Given the description of an element on the screen output the (x, y) to click on. 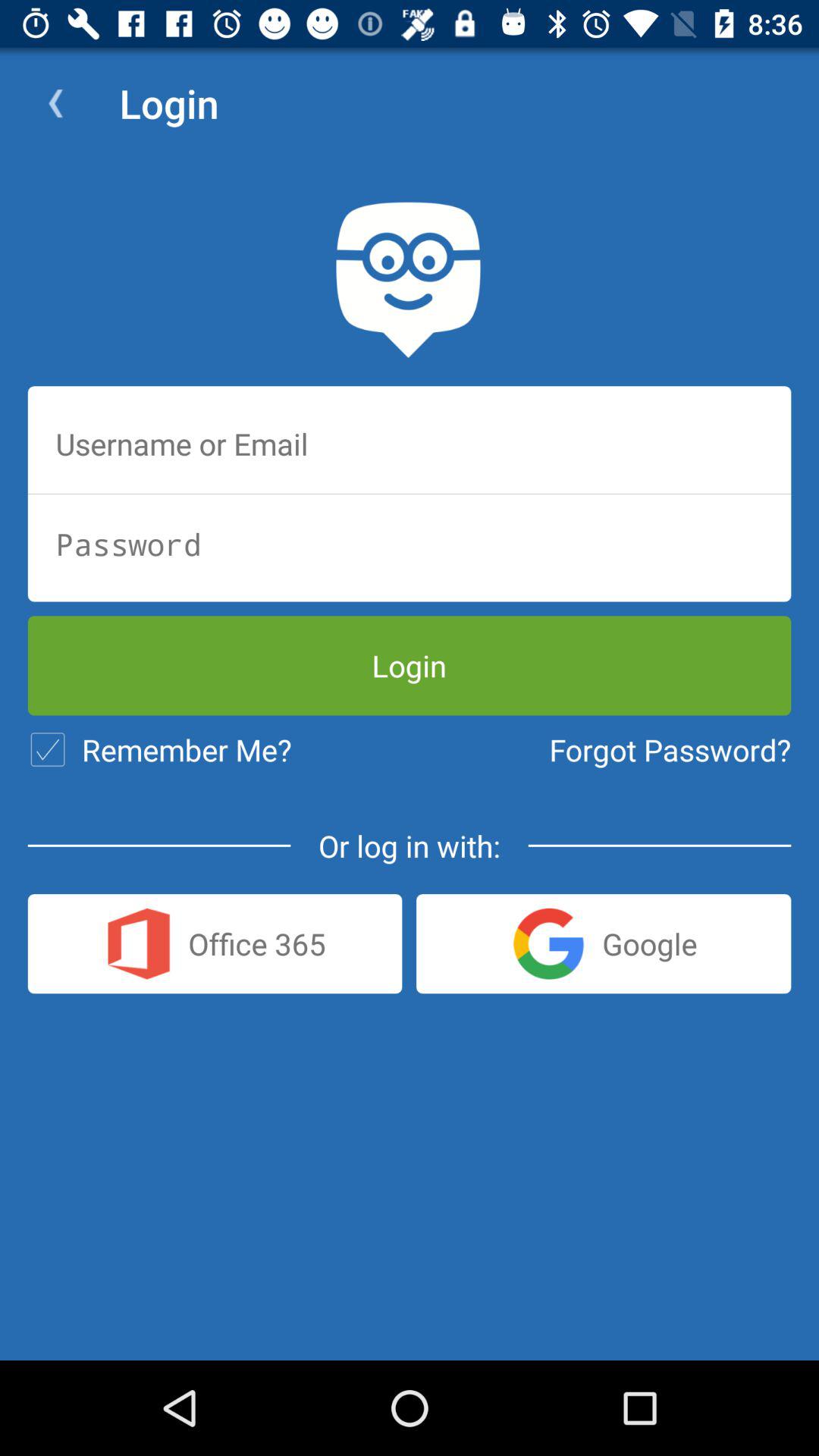
insert email (409, 443)
